Given the description of an element on the screen output the (x, y) to click on. 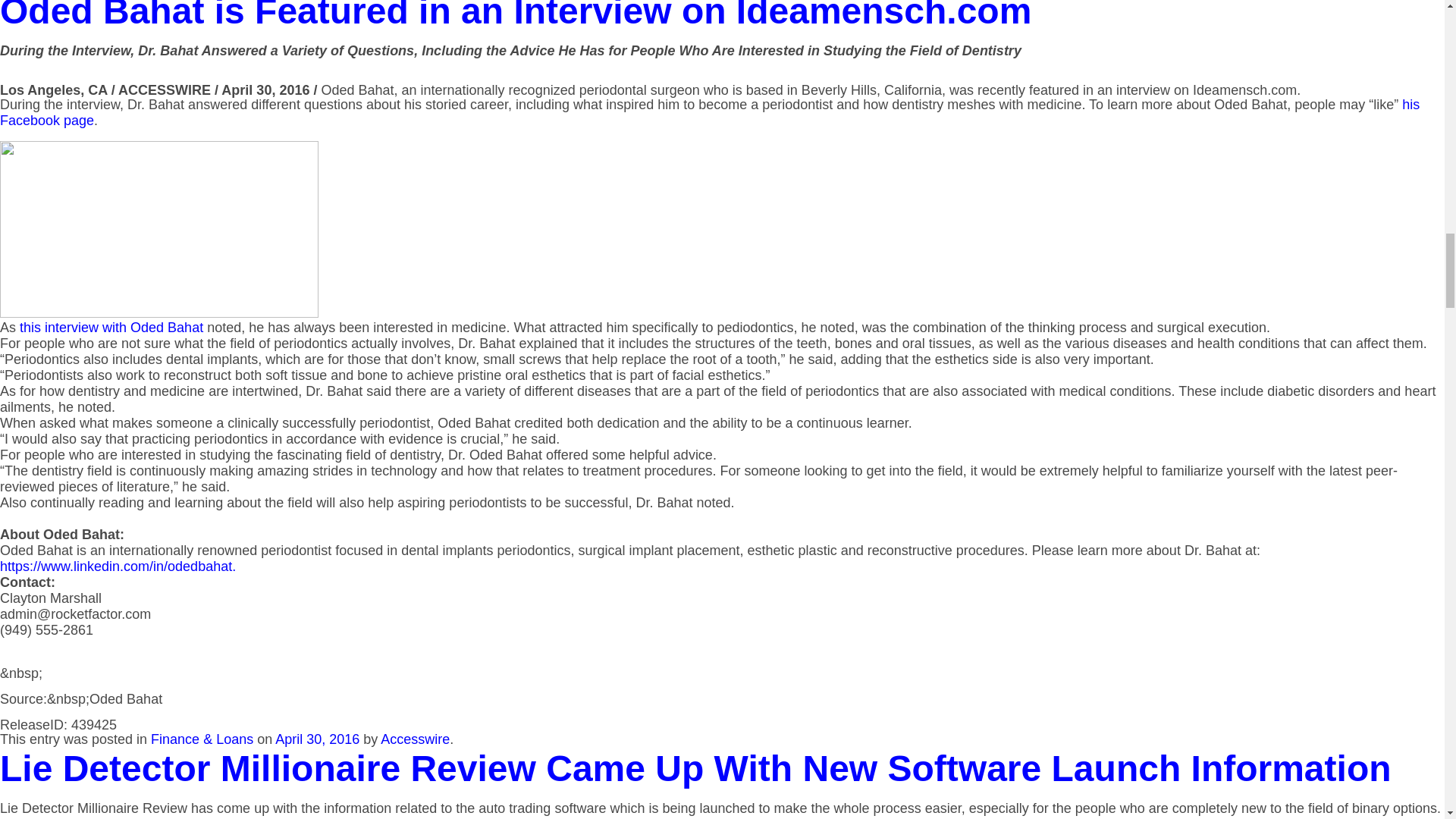
this interview with Oded Bahat (111, 327)
Accesswire (414, 739)
Oded Bahat is Featured in an Interview on Ideamensch.com (515, 15)
View all posts by Accesswire (414, 739)
2:00 pm (317, 739)
his Facebook page (709, 112)
April 30, 2016 (317, 739)
